Given the description of an element on the screen output the (x, y) to click on. 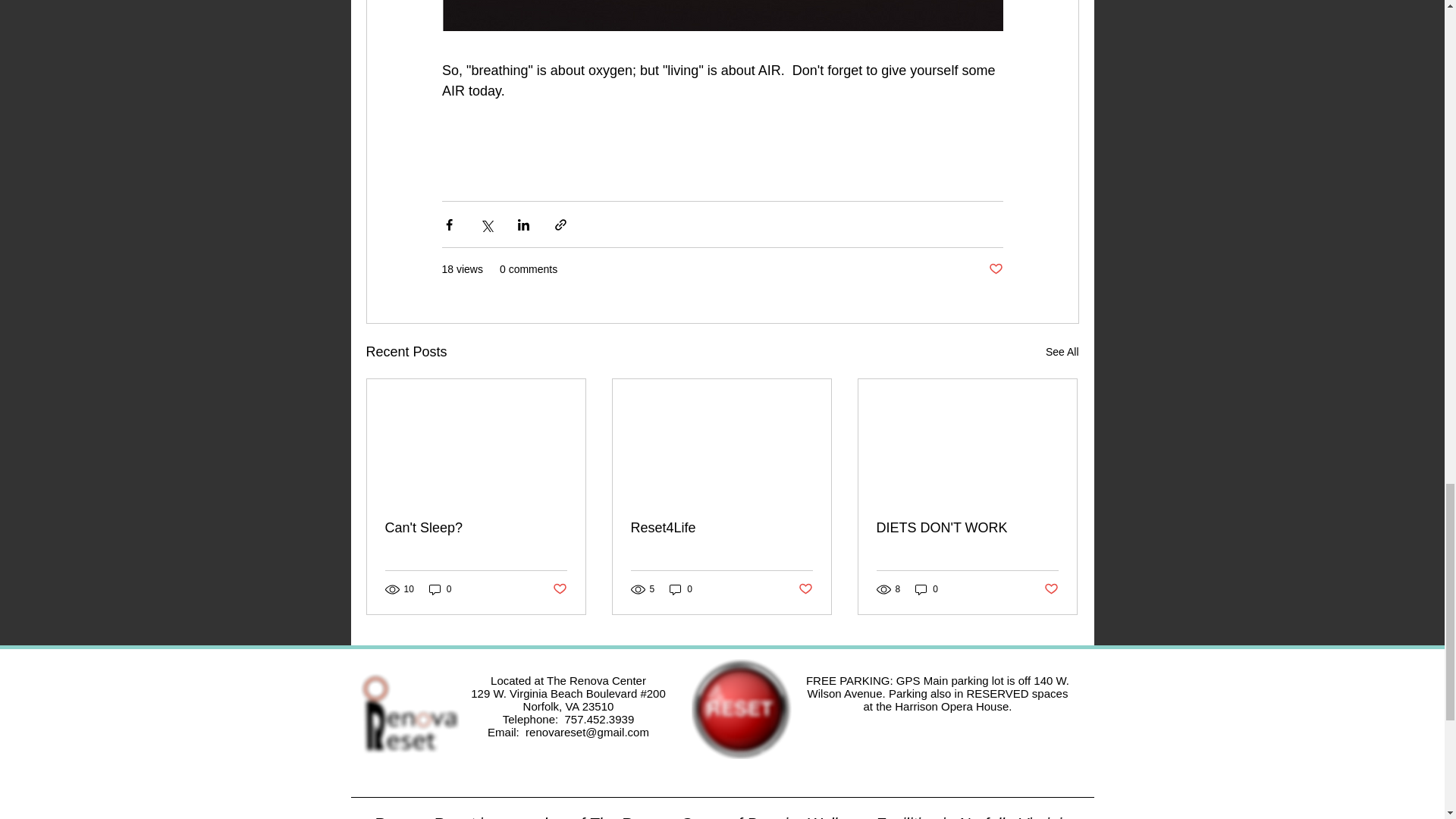
Can't Sleep? (476, 528)
0 (681, 589)
Reset4Life (721, 528)
0 (926, 589)
Post not marked as liked (995, 269)
0 (440, 589)
See All (1061, 352)
Post not marked as liked (558, 589)
DIETS DON'T WORK (967, 528)
Post not marked as liked (804, 589)
